Given the description of an element on the screen output the (x, y) to click on. 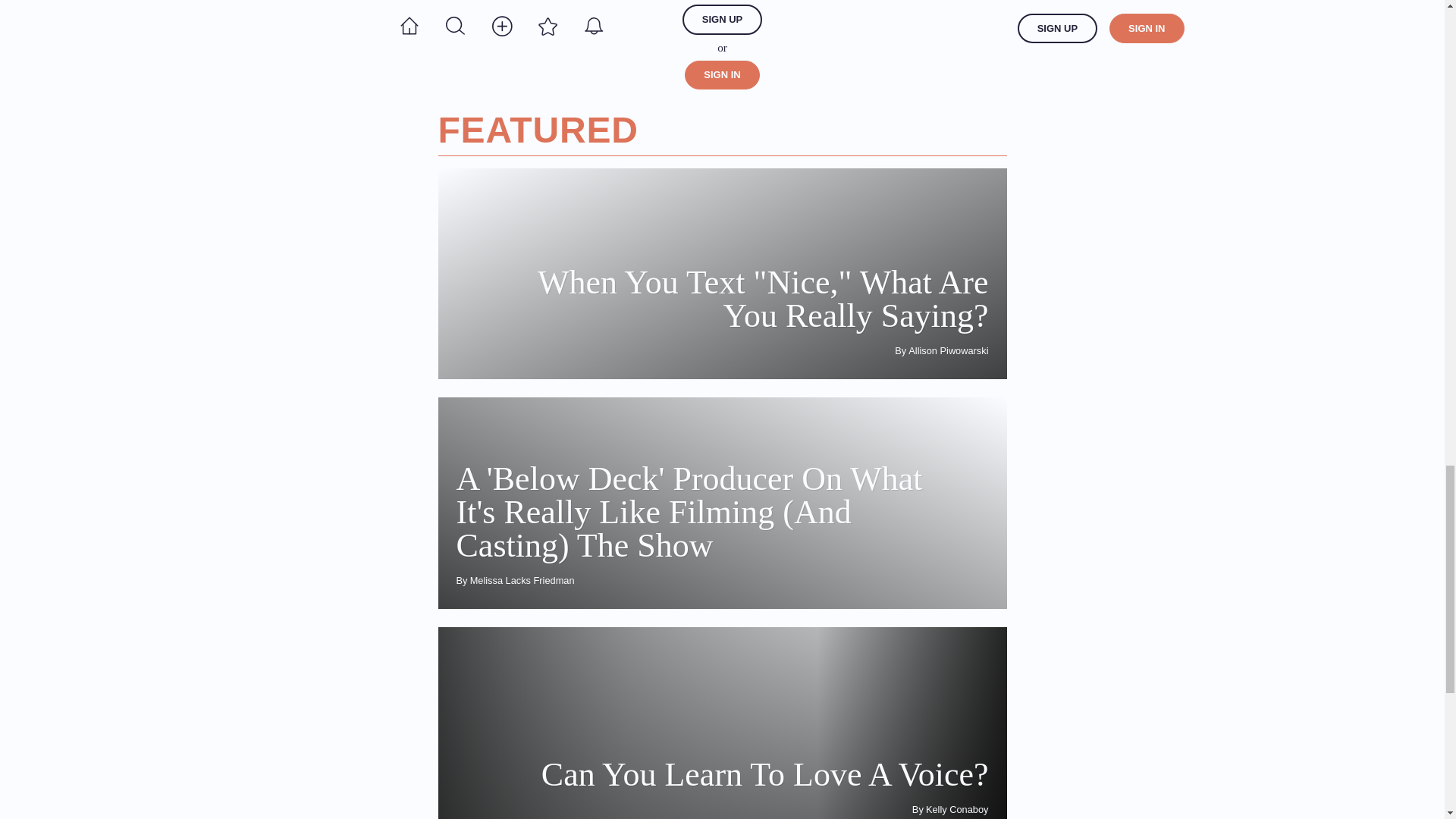
SIGN UP (721, 19)
SIGN IN (721, 74)
